Given the description of an element on the screen output the (x, y) to click on. 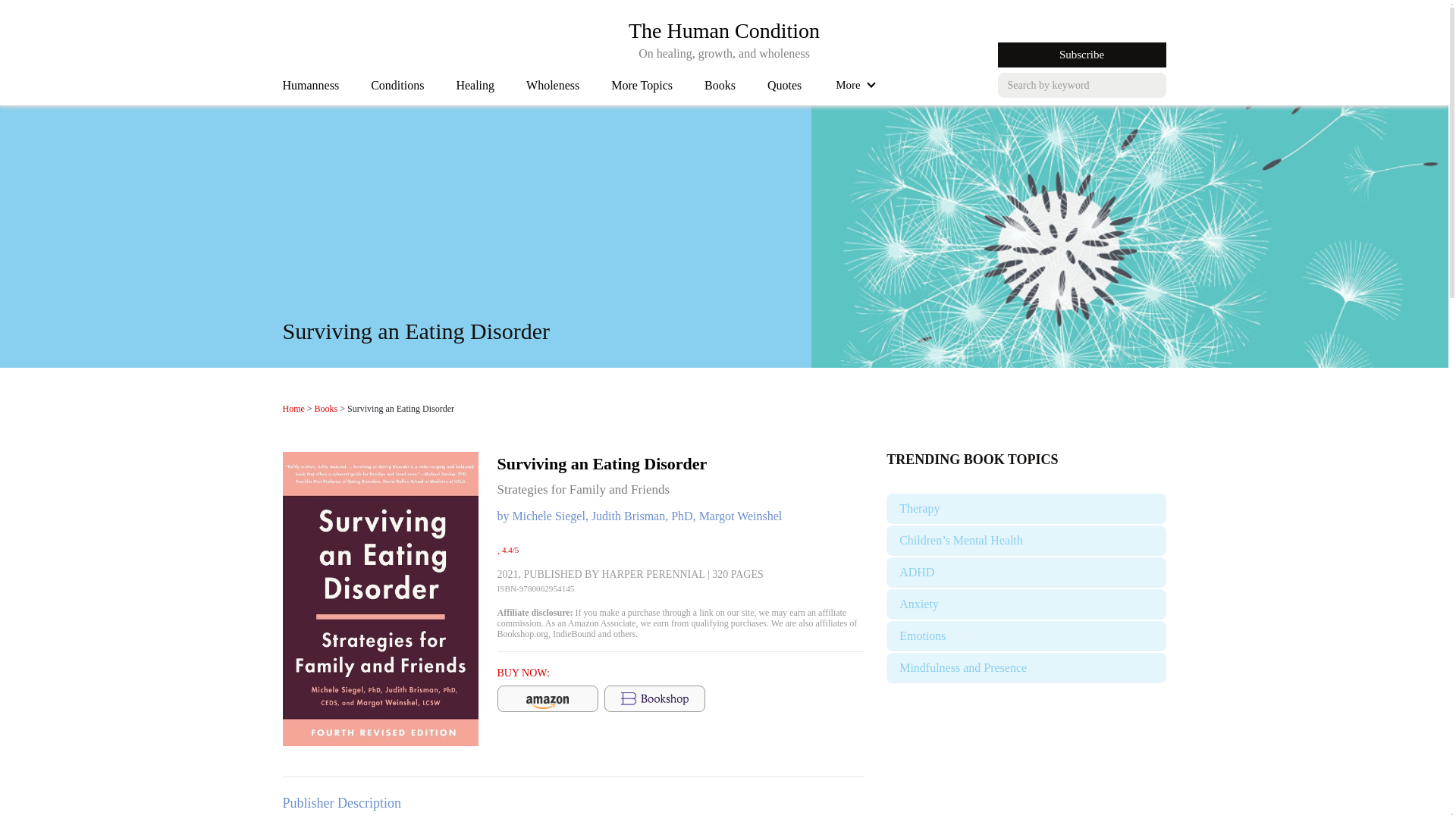
Conditions (723, 29)
Go to Books. (397, 88)
Go to The Human Condition. (325, 408)
Humanness (293, 408)
More Topics (310, 88)
Wholeness (641, 88)
Healing (552, 88)
